Given the description of an element on the screen output the (x, y) to click on. 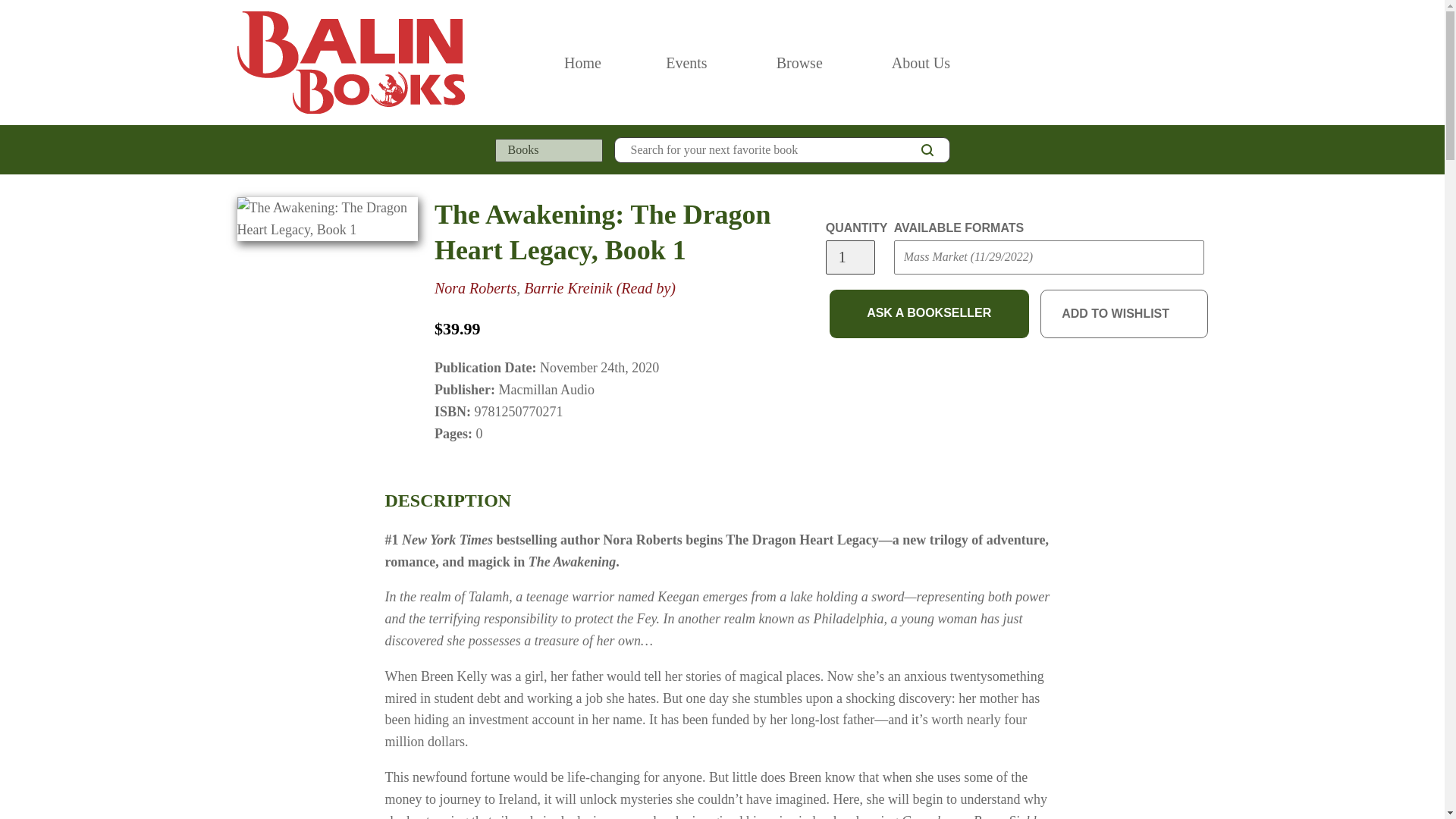
ASK A BOOKSELLER (929, 313)
Log in (1134, 62)
ADD TO WISHLIST (1124, 313)
Cart (1201, 62)
Browse (798, 62)
Events (686, 62)
1 (850, 257)
Browse Books (798, 62)
Log in (1134, 62)
